Given the description of an element on the screen output the (x, y) to click on. 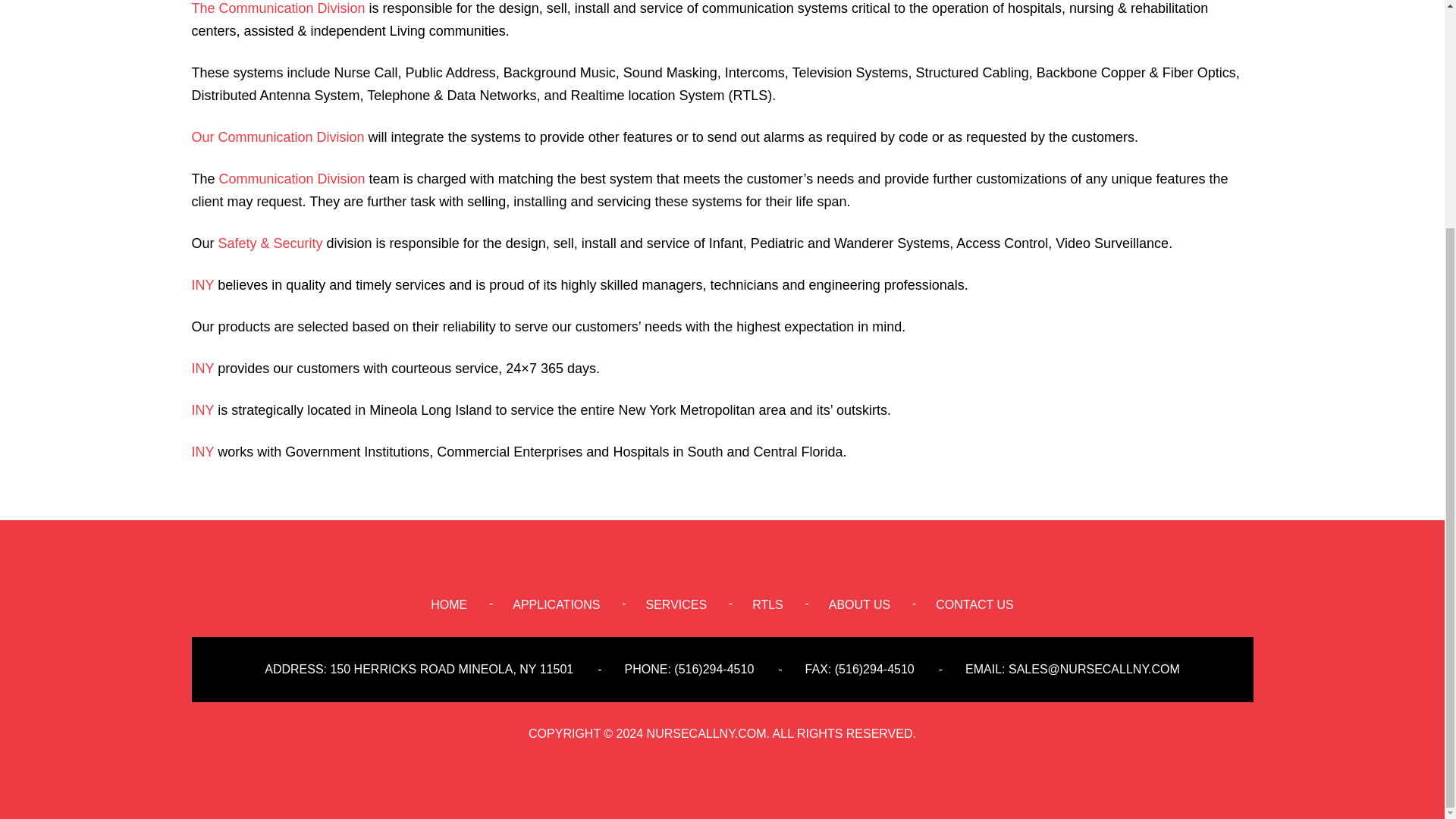
APPLICATIONS (555, 605)
RTLS (767, 605)
HOME (448, 605)
SERVICES (676, 605)
CONTACT US (974, 605)
ABOUT US (859, 605)
